Given the description of an element on the screen output the (x, y) to click on. 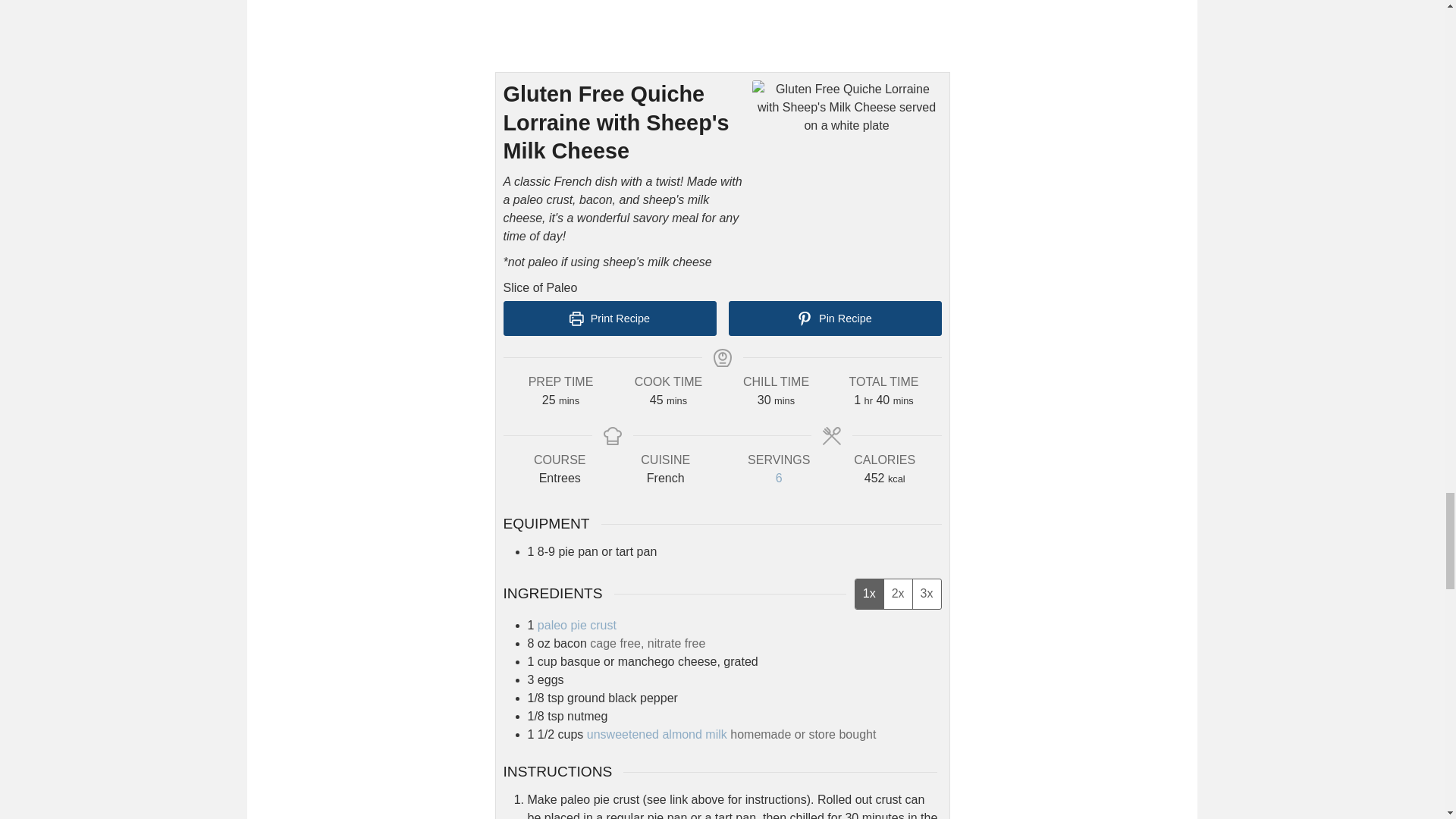
Pin Recipe (834, 318)
unsweetened almond milk (656, 734)
1x (869, 594)
6 (779, 478)
paleo pie crust (576, 625)
Print Recipe (609, 318)
3x (926, 594)
2x (897, 594)
